Given the description of an element on the screen output the (x, y) to click on. 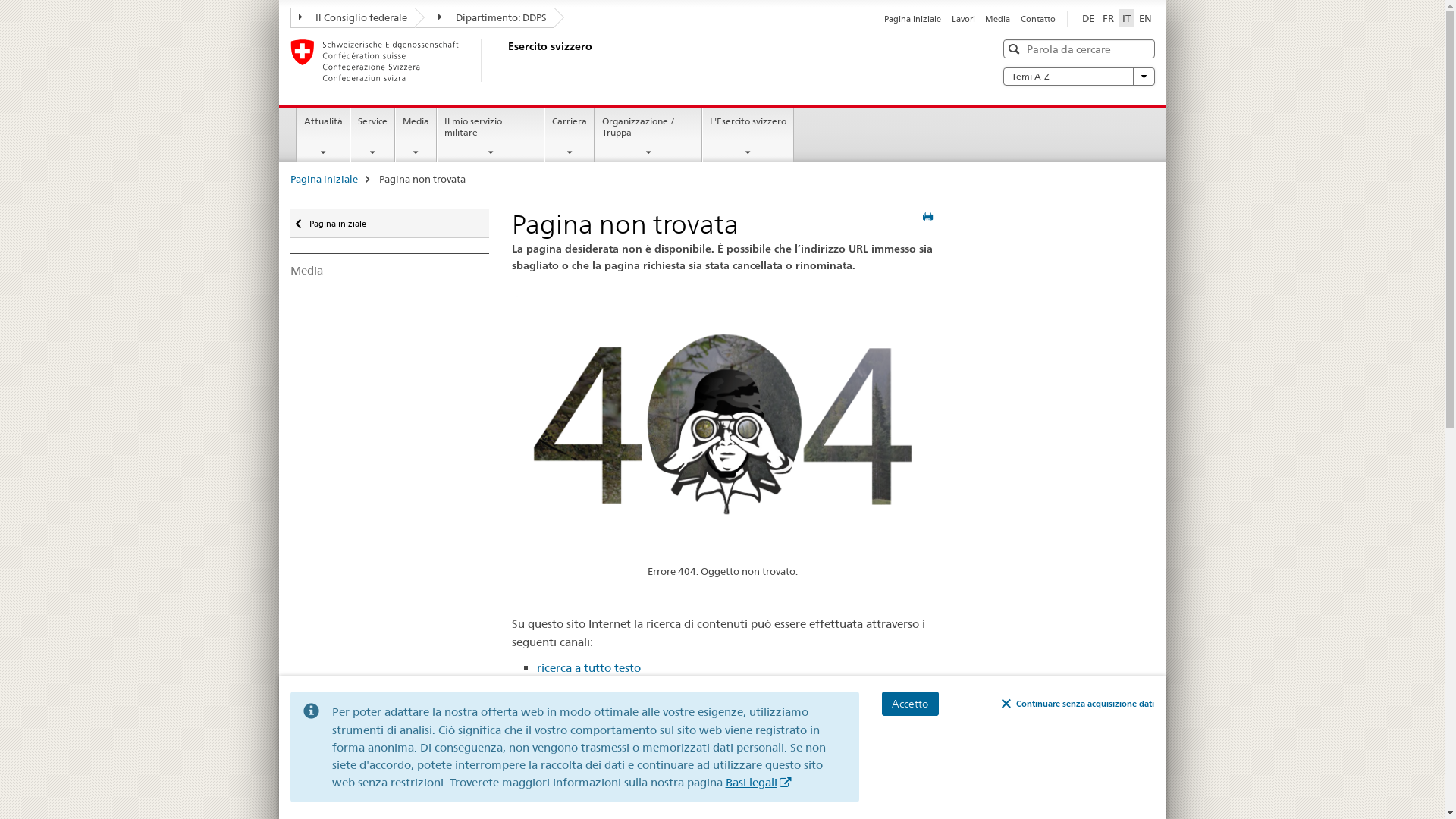
FR Element type: text (1108, 18)
Esercito svizzero Element type: text (505, 60)
Clear Element type: text (1140, 48)
pagina iniziale Element type: text (574, 684)
L'Esercito svizzero Element type: text (747, 134)
DE Element type: text (1087, 18)
modulo di contatto Element type: text (799, 702)
Dipartimento: DDPS Element type: text (484, 17)
Service Element type: text (372, 134)
EN Element type: text (1144, 18)
Il mio servizio militare Element type: text (490, 134)
IT
selected Element type: text (1126, 18)
Media Element type: text (997, 18)
ricerca a tutto testo Element type: text (588, 667)
print preview Element type: text (927, 216)
Accetto Element type: text (909, 703)
Lavori Element type: text (963, 18)
Pagina iniziale Element type: text (912, 18)
Carriera Element type: text (569, 134)
Contatto Element type: text (1037, 18)
Il Consiglio federale Element type: text (351, 17)
Basi legali Element type: text (757, 782)
Temi A-Z Element type: text (1078, 76)
Ritornare alla pagina precedente
Pagina iniziale Element type: text (389, 223)
Pagina iniziale Element type: text (323, 178)
Organizzazione / Truppa Element type: text (648, 134)
Media Element type: text (415, 134)
Media Element type: text (389, 270)
